Given the description of an element on the screen output the (x, y) to click on. 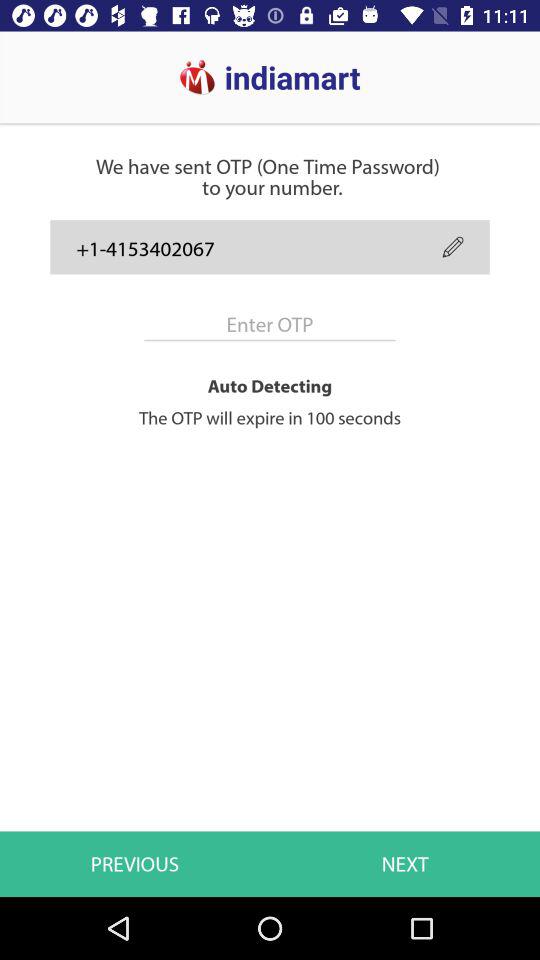
open item above auto detecting item (269, 324)
